Given the description of an element on the screen output the (x, y) to click on. 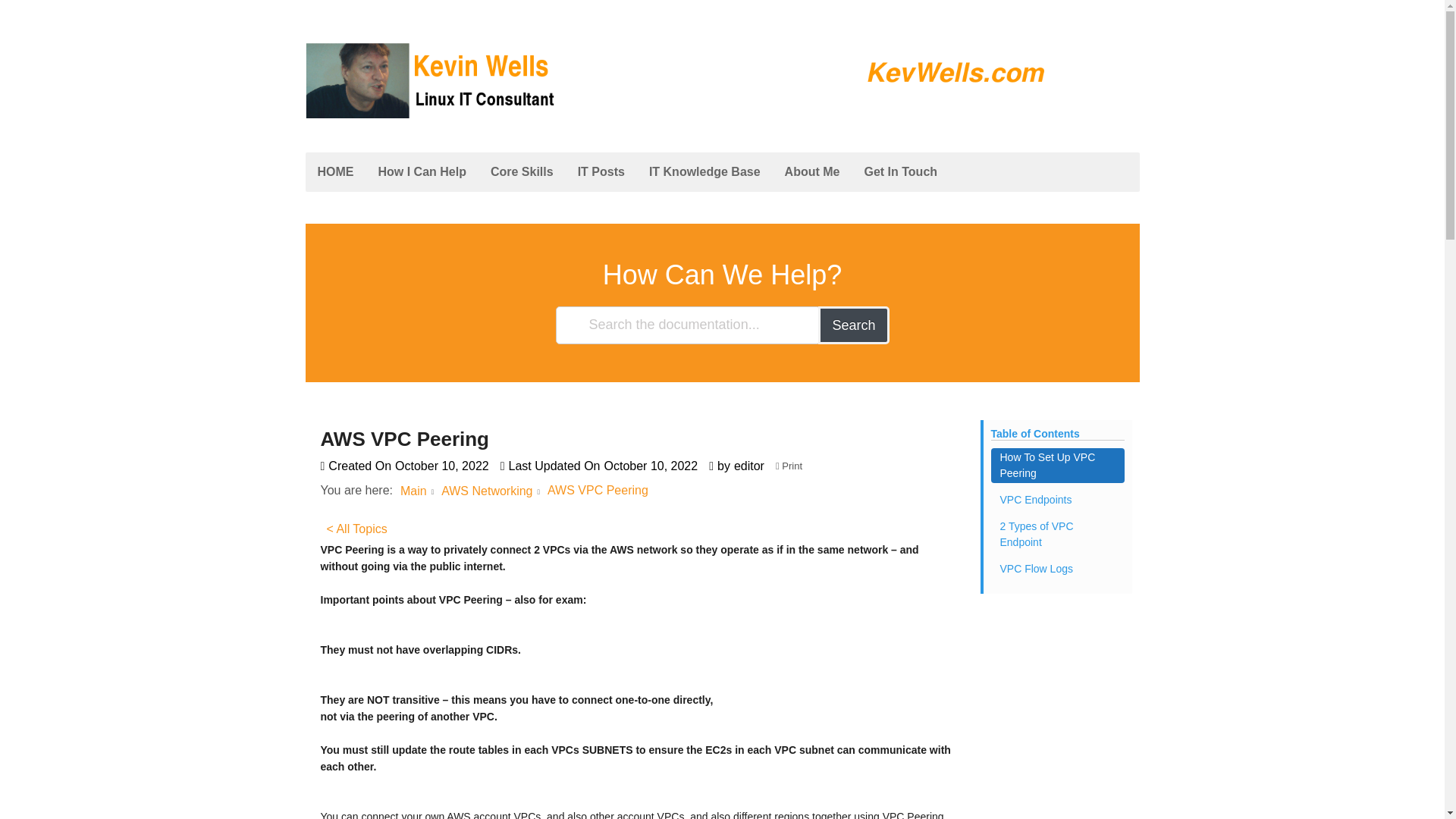
kevwells.com (402, 133)
Main (413, 490)
Get In Touch (900, 171)
HOME (334, 171)
Core Skills (522, 171)
How I Can Help (421, 171)
AWS Networking (486, 490)
How To Set Up VPC Peering (1057, 465)
Linux IT Systems Consultant (721, 110)
VPC Flow Logs (1057, 568)
